Given the description of an element on the screen output the (x, y) to click on. 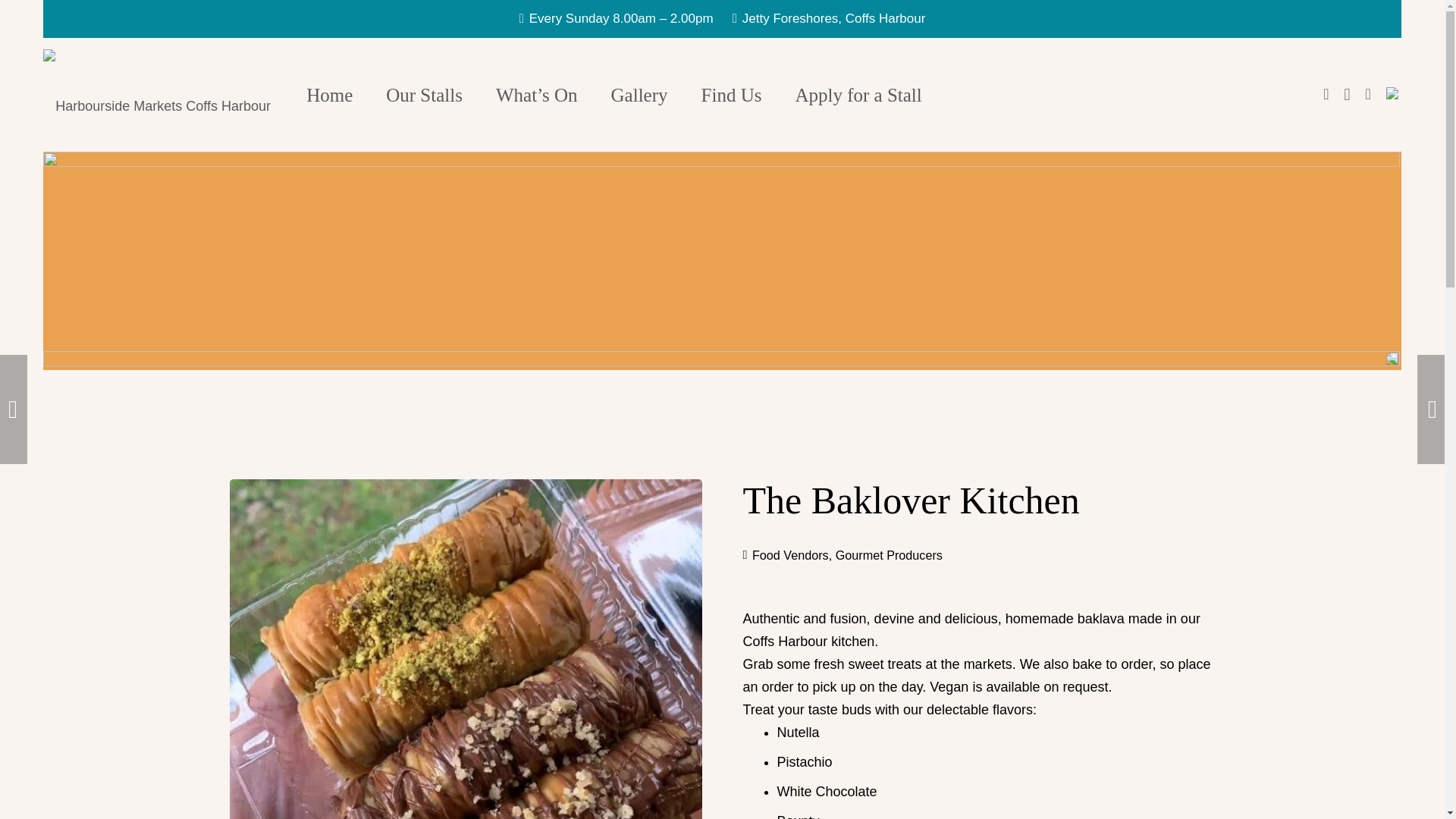
Our Stalls (424, 94)
Gourmet Producers (888, 554)
Jetty Foreshores, Coffs Harbour (829, 18)
Home (328, 94)
Find Us (731, 94)
Food Vendors (790, 554)
Apply for a Stall (857, 94)
Gallery (639, 94)
